Given the description of an element on the screen output the (x, y) to click on. 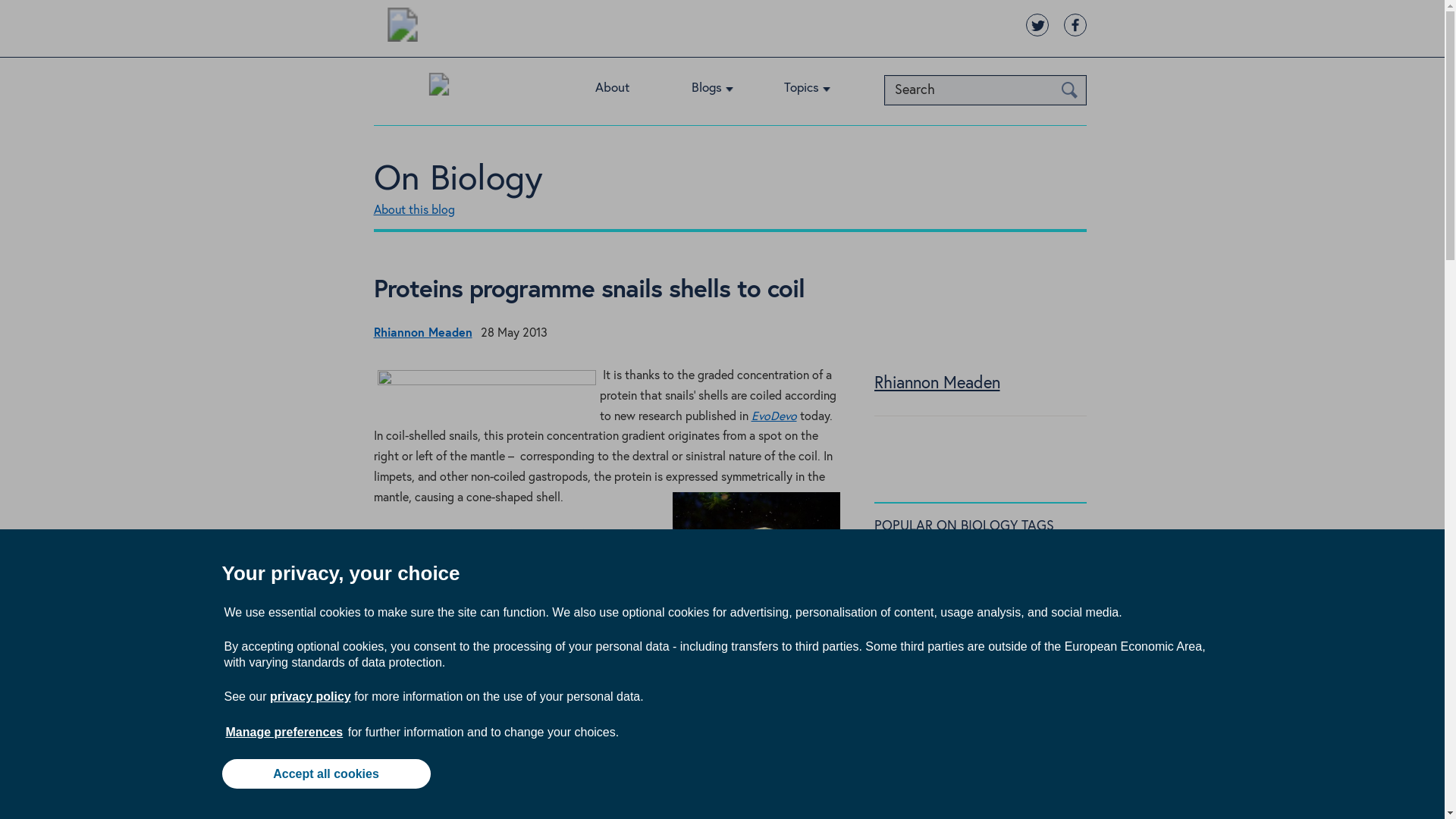
Visit BioMed Central (401, 28)
Topics (818, 91)
Manage preferences (284, 732)
Blogs (724, 91)
About (629, 91)
BioMed Central on Twitter (1036, 24)
Accept all cookies (325, 773)
BioMed Central on Facebook (1074, 24)
BioMed Central on Facebook (1074, 24)
Visit Blog Network home (437, 87)
BioMed Central on Twitter (1036, 24)
privacy policy (309, 696)
